Given the description of an element on the screen output the (x, y) to click on. 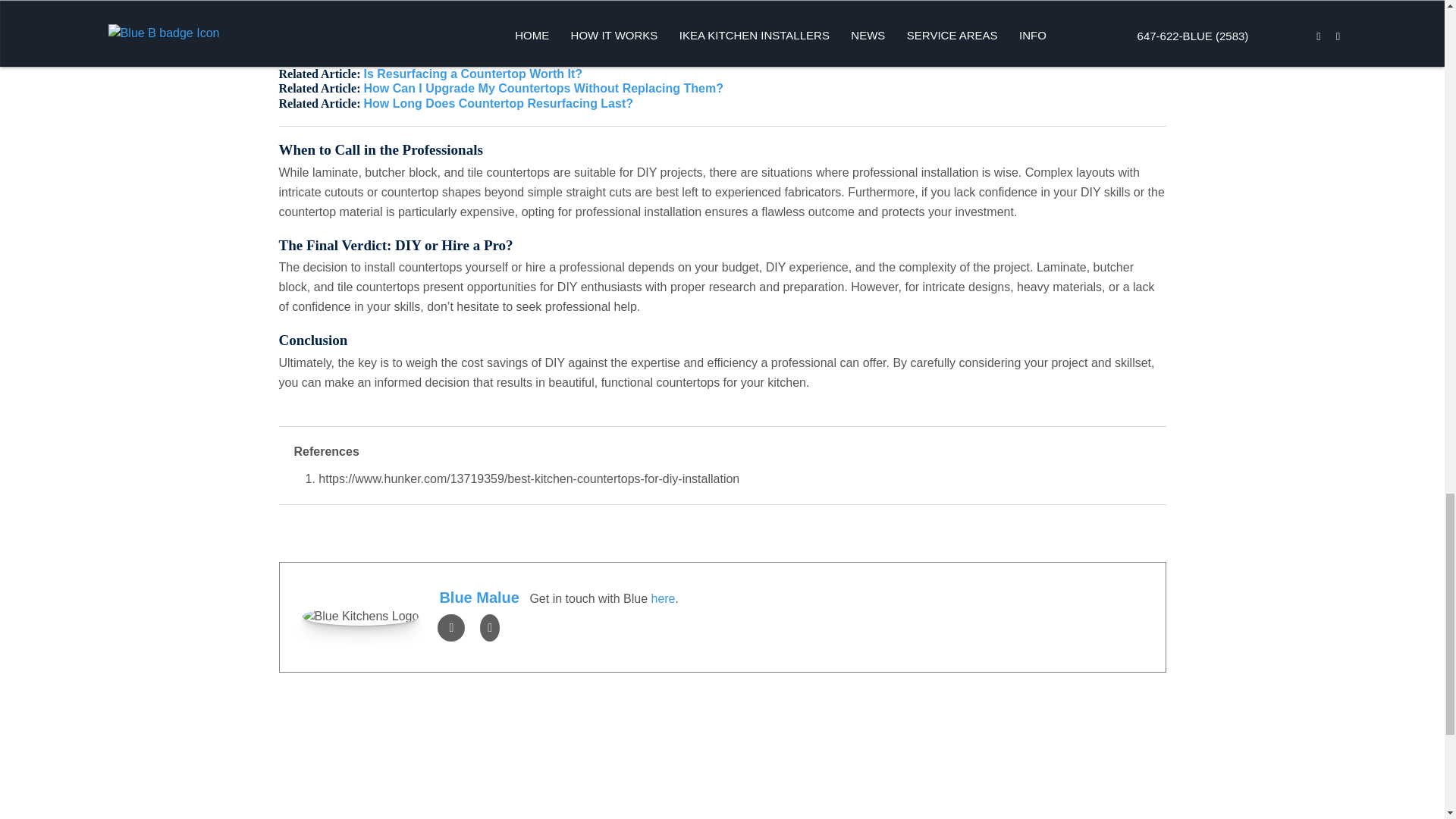
here (662, 598)
How Can I Upgrade My Countertops Without Replacing Them? (542, 88)
facebook (451, 626)
Blue Malue (479, 597)
Is Resurfacing a Countertop Worth It? (472, 73)
youtube (489, 626)
How Long Does Countertop Resurfacing Last? (497, 103)
